Given the description of an element on the screen output the (x, y) to click on. 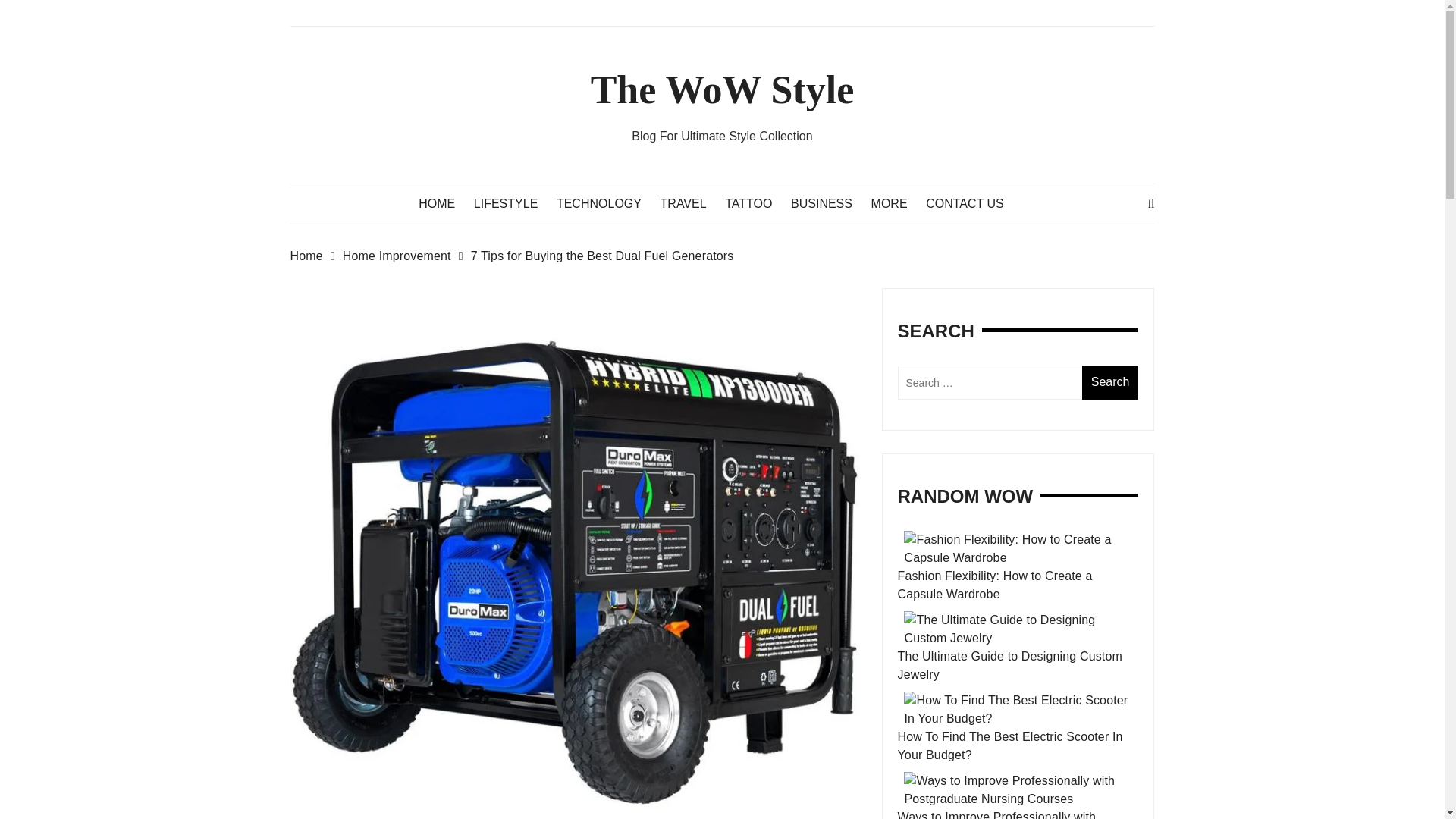
Search (1109, 382)
MORE (896, 203)
BUSINESS (828, 203)
TRAVEL (691, 203)
HOME (444, 203)
CONTACT US (972, 203)
TATTOO (756, 203)
LIFESTYLE (513, 203)
Search (1109, 382)
Home Improvement (406, 256)
